Given the description of an element on the screen output the (x, y) to click on. 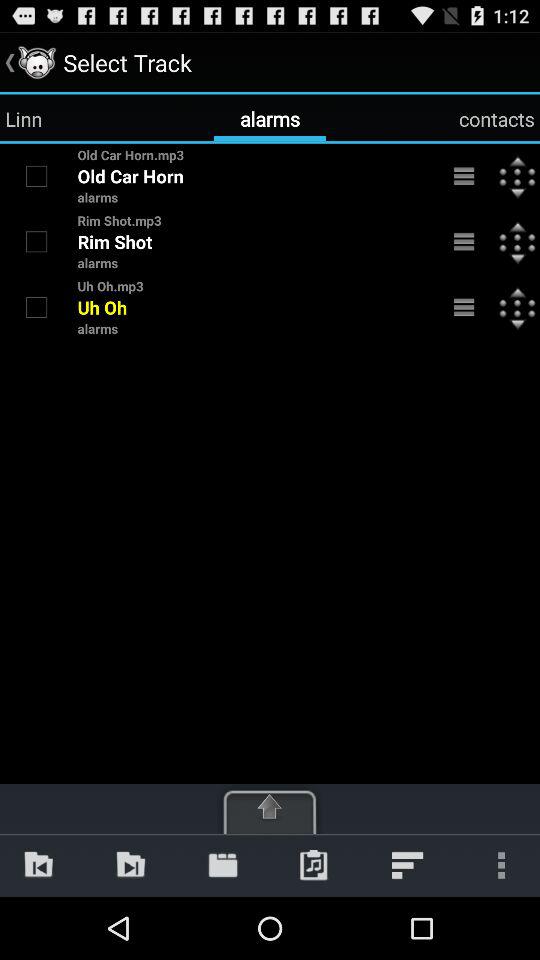
open icon below the alarms (130, 864)
